Given the description of an element on the screen output the (x, y) to click on. 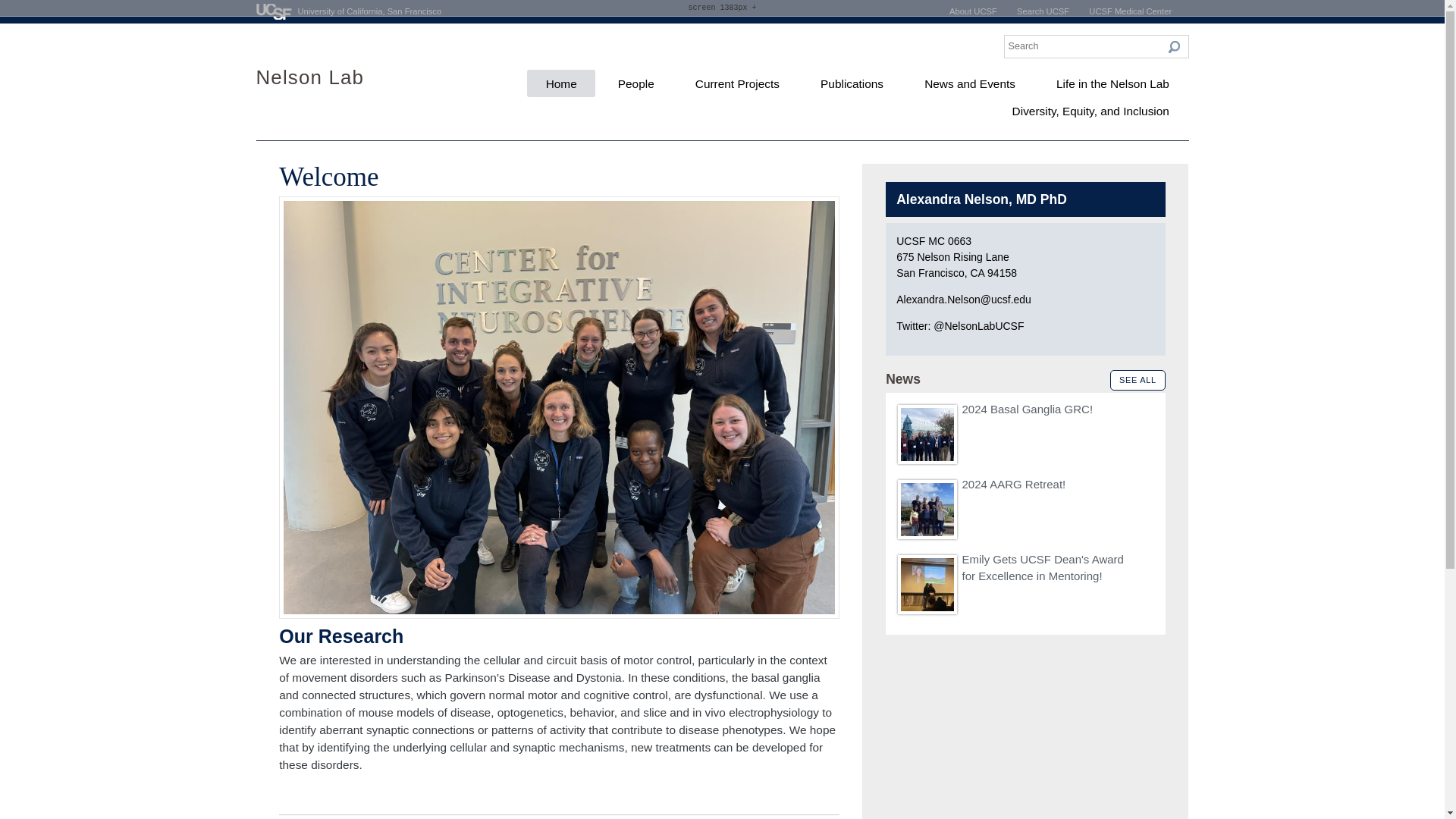
2024 Basal Ganglia GRC! (1026, 408)
SEE ALL (1137, 380)
Search UCSF (1042, 11)
Life in the Nelson Lab (1113, 83)
Emily Gets UCSF Dean's Award for Excellence in Mentoring! (1042, 567)
Current Projects (736, 83)
About UCSF (973, 11)
Home (561, 83)
Diversity, Equity, and Inclusion (1090, 110)
Nelson Lab (310, 76)
University of California, San Francisco (349, 11)
Enter the terms you wish to search for. (1096, 46)
Publications (852, 83)
Home (310, 76)
